Given the description of an element on the screen output the (x, y) to click on. 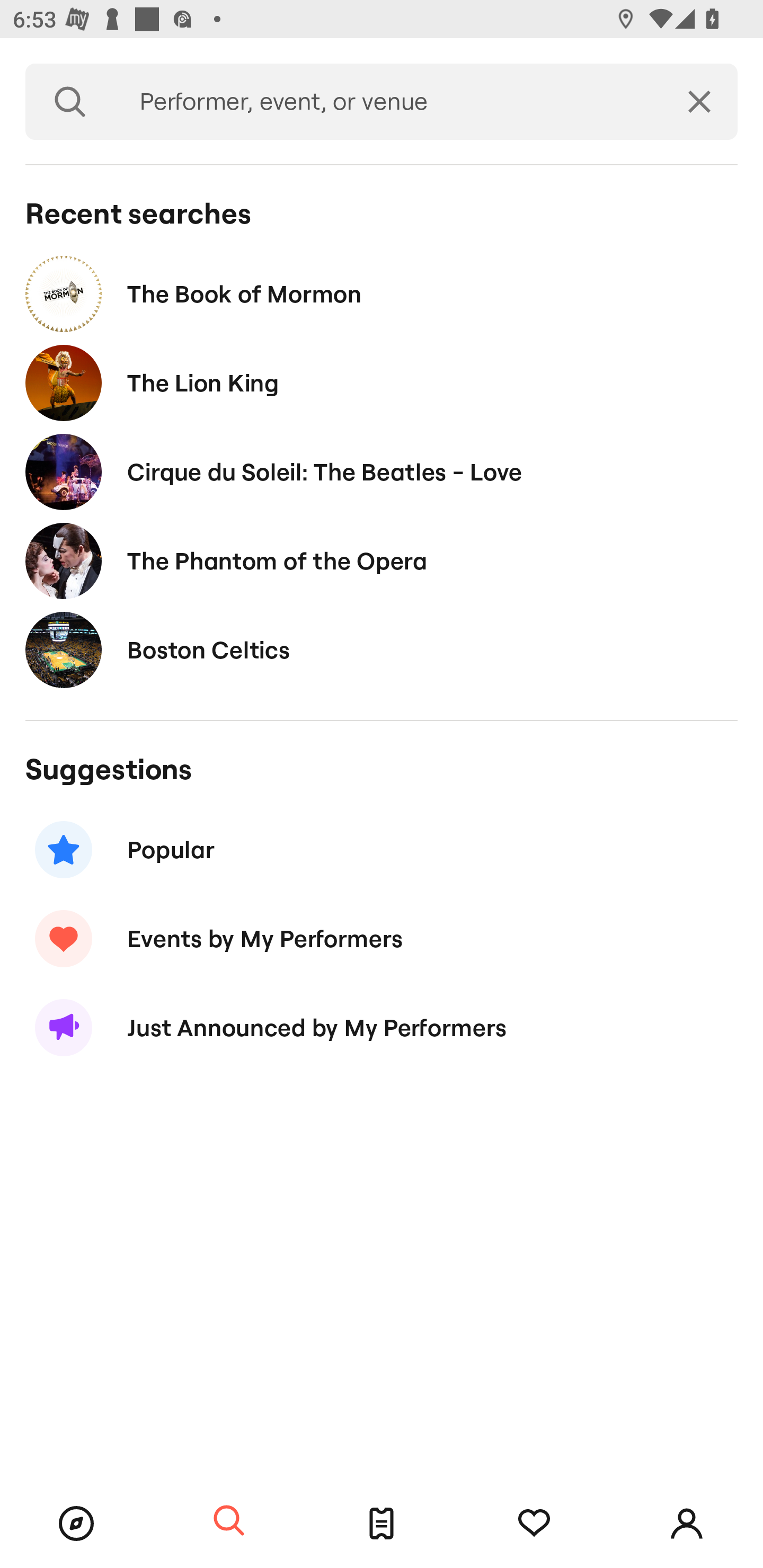
Search (69, 101)
Performer, event, or venue (387, 101)
Clear (699, 101)
The Book of Mormon (381, 293)
The Lion King (381, 383)
Cirque du Soleil: The Beatles - Love (381, 471)
The Phantom of the Opera (381, 560)
Boston Celtics (381, 649)
Popular (381, 849)
Events by My Performers (381, 938)
Just Announced by My Performers (381, 1027)
Browse (76, 1523)
Search (228, 1521)
Tickets (381, 1523)
Tracking (533, 1523)
Account (686, 1523)
